Given the description of an element on the screen output the (x, y) to click on. 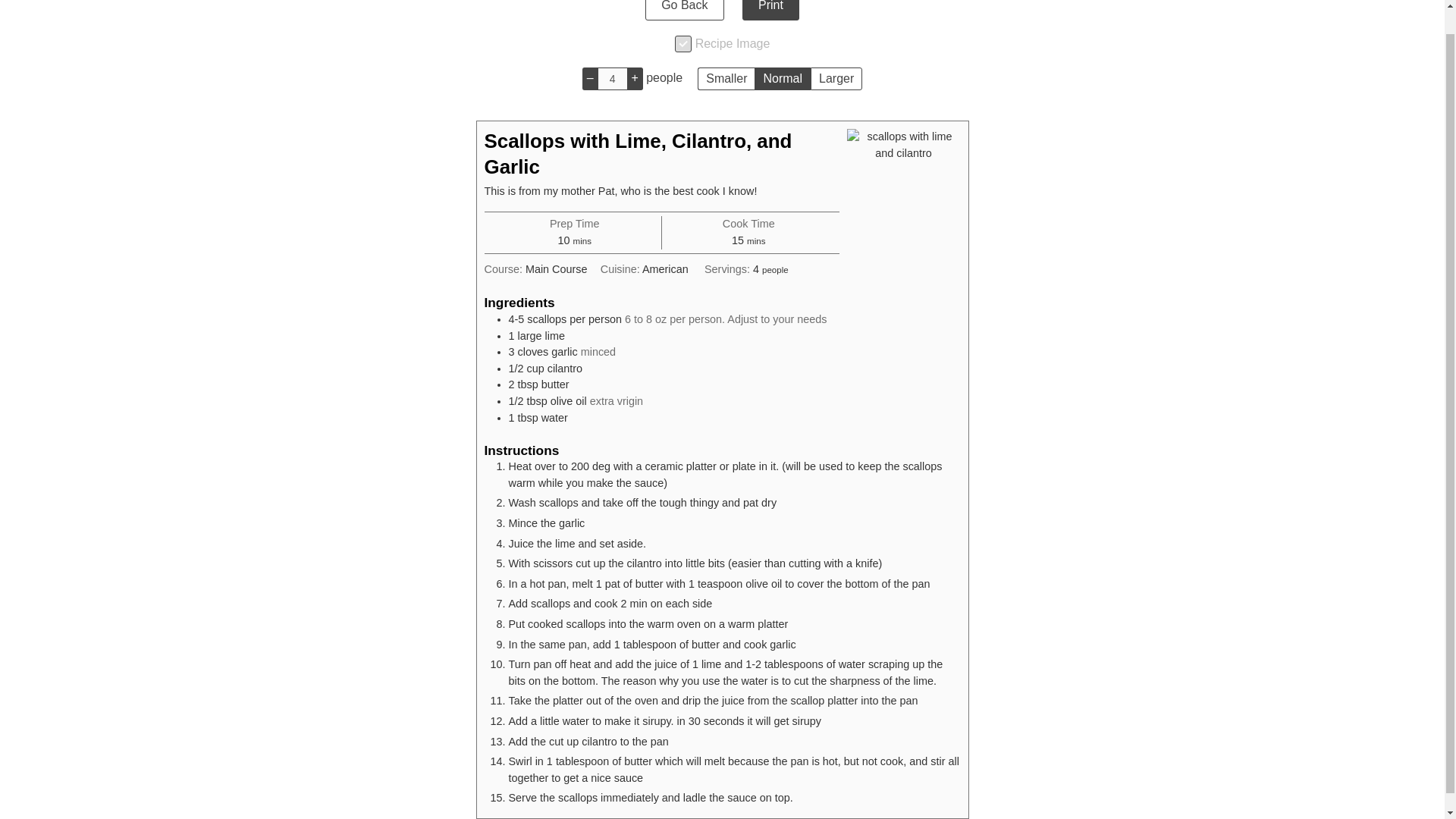
Print (770, 10)
Go Back (684, 10)
Smaller (725, 78)
Normal (782, 78)
Larger (835, 78)
4 (611, 78)
